Given the description of an element on the screen output the (x, y) to click on. 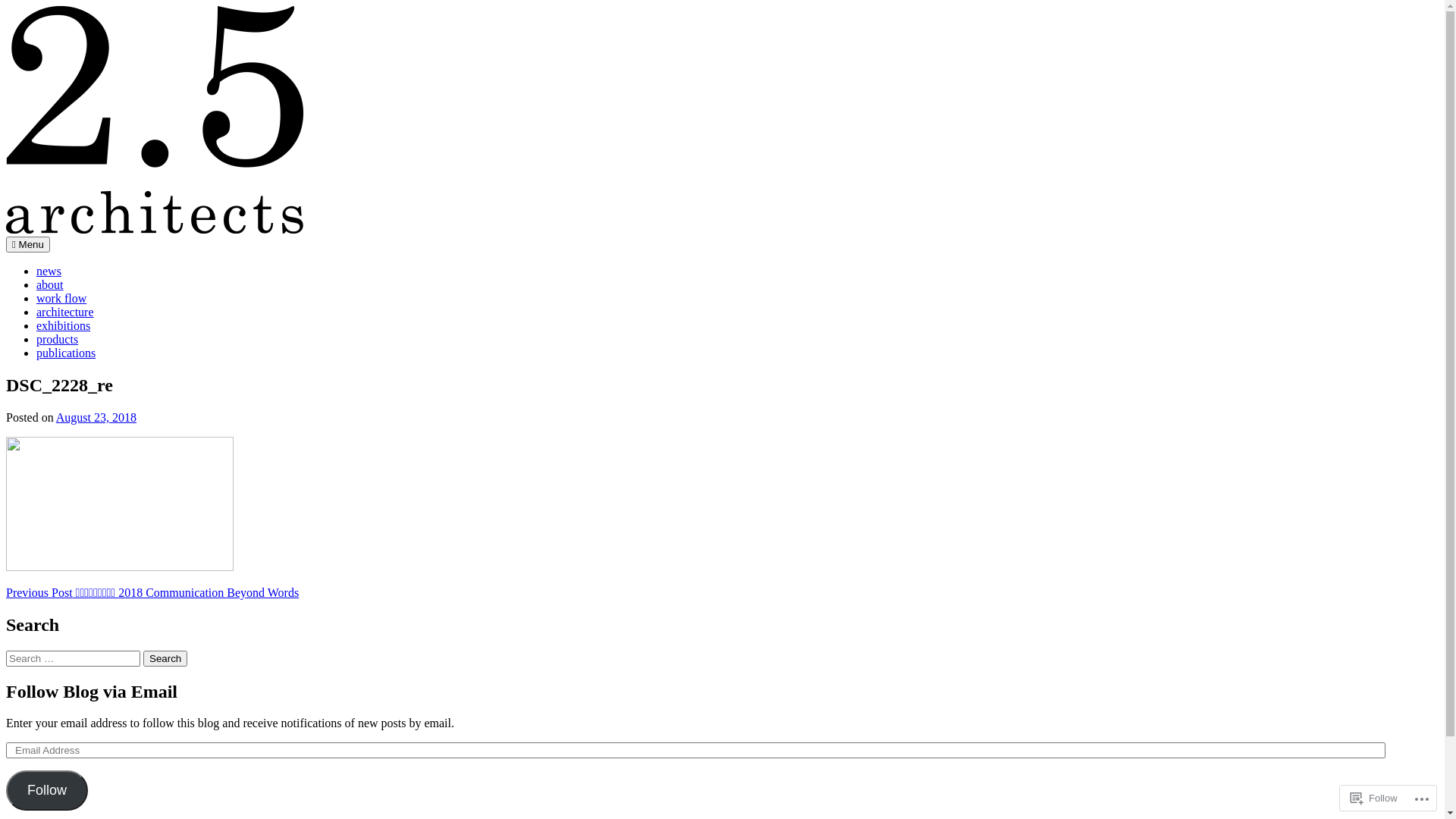
August 23, 2018 Element type: text (96, 417)
Follow Element type: text (1373, 797)
publications Element type: text (65, 352)
Follow Element type: text (46, 790)
exhibitions Element type: text (63, 325)
Search Element type: text (165, 658)
news Element type: text (48, 270)
architecture Element type: text (65, 311)
products Element type: text (57, 338)
work flow Element type: text (61, 297)
2.5 architects Element type: text (38, 254)
about Element type: text (49, 284)
